Given the description of an element on the screen output the (x, y) to click on. 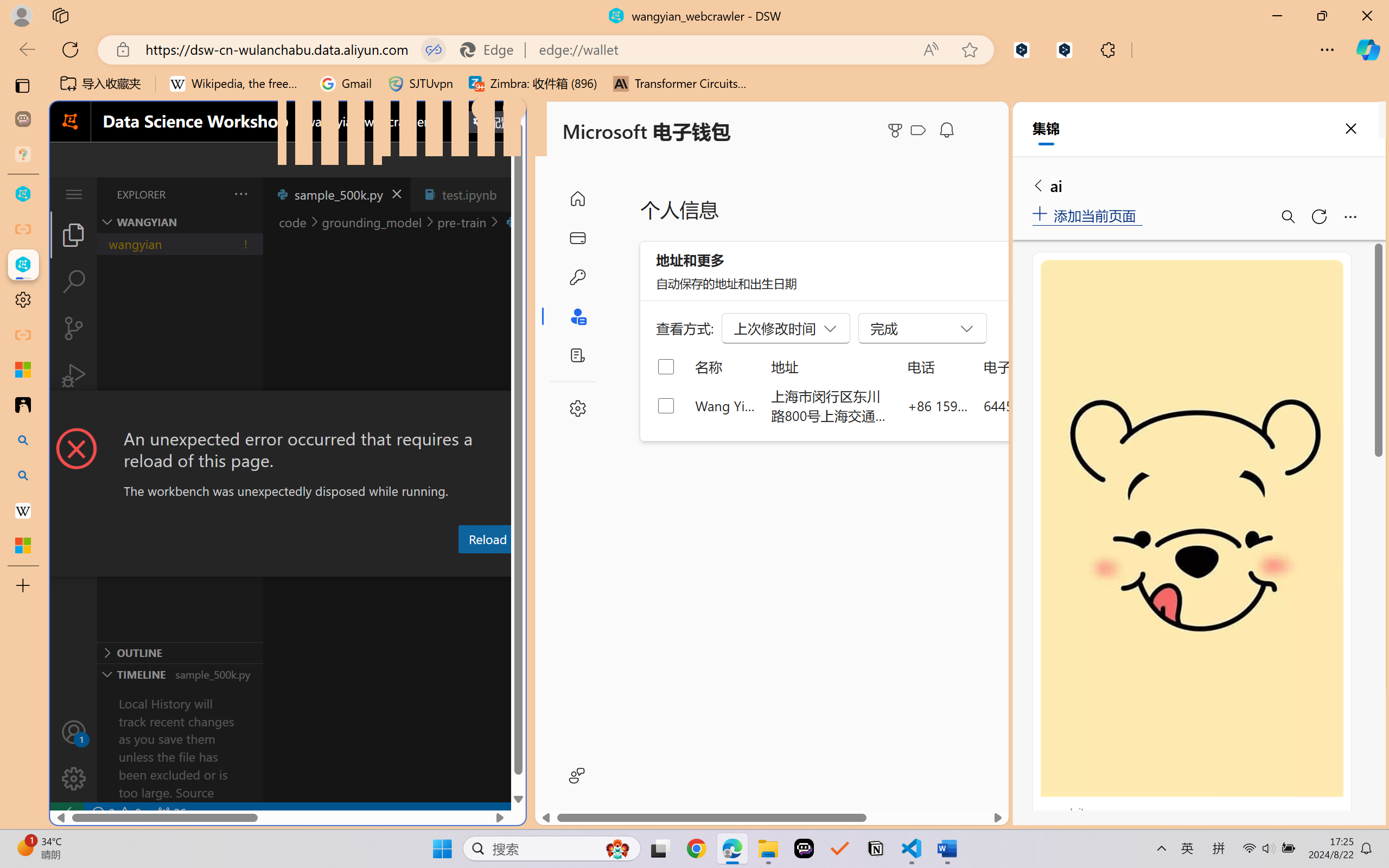
Wikipedia, the free encyclopedia (236, 83)
Class: menubar compact overflow-menu-only (73, 194)
Source Control (Ctrl+Shift+G) (73, 328)
Problems (Ctrl+Shift+M) (308, 565)
Earth - Wikipedia (22, 510)
Reload (486, 538)
